Given the description of an element on the screen output the (x, y) to click on. 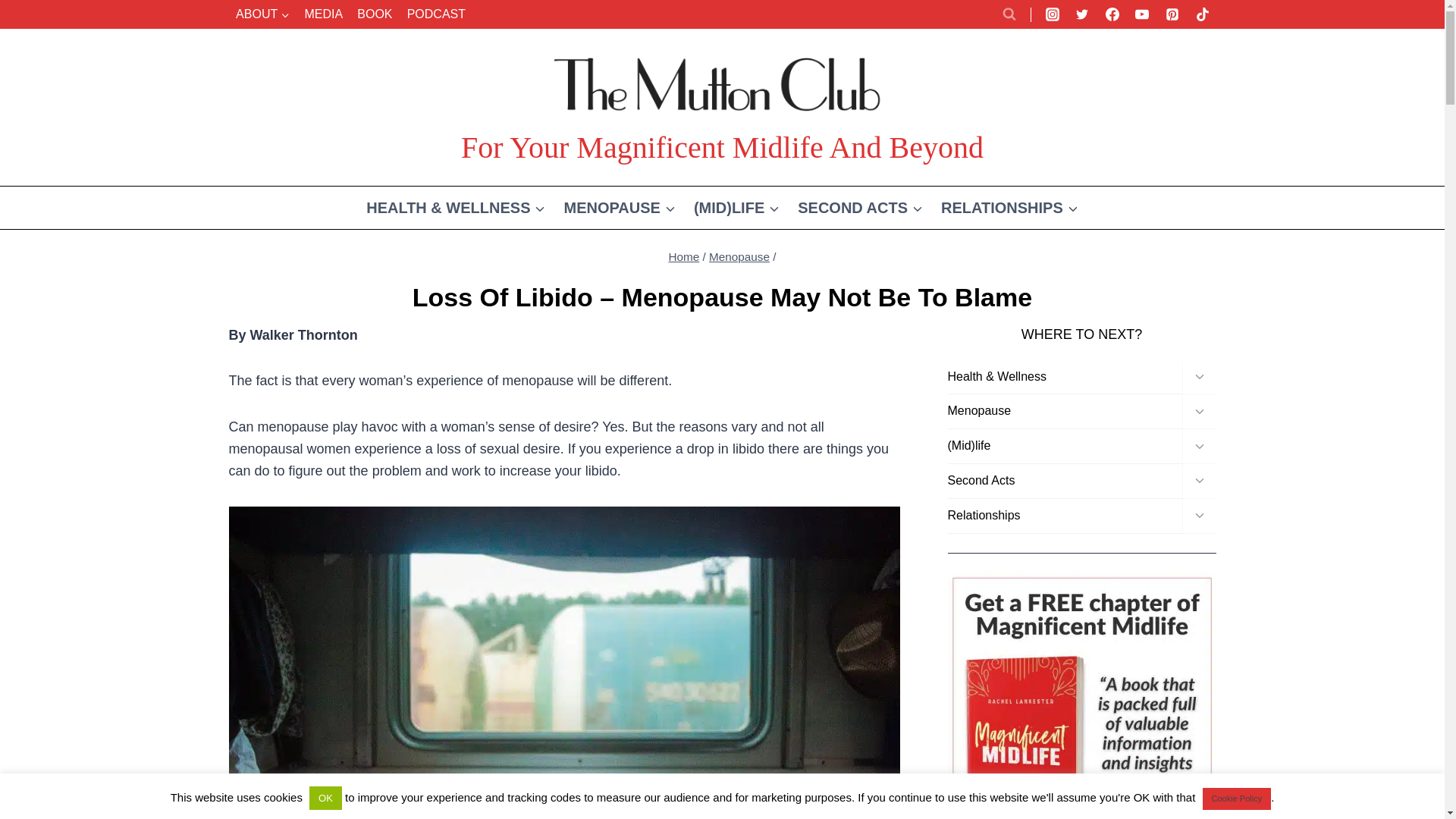
For Your Magnificent Midlife And Beyond (722, 106)
SECOND ACTS (860, 207)
MENOPAUSE (619, 207)
RELATIONSHIPS (1009, 207)
BOOK (374, 14)
ABOUT (262, 14)
PODCAST (435, 14)
MEDIA (323, 14)
